Given the description of an element on the screen output the (x, y) to click on. 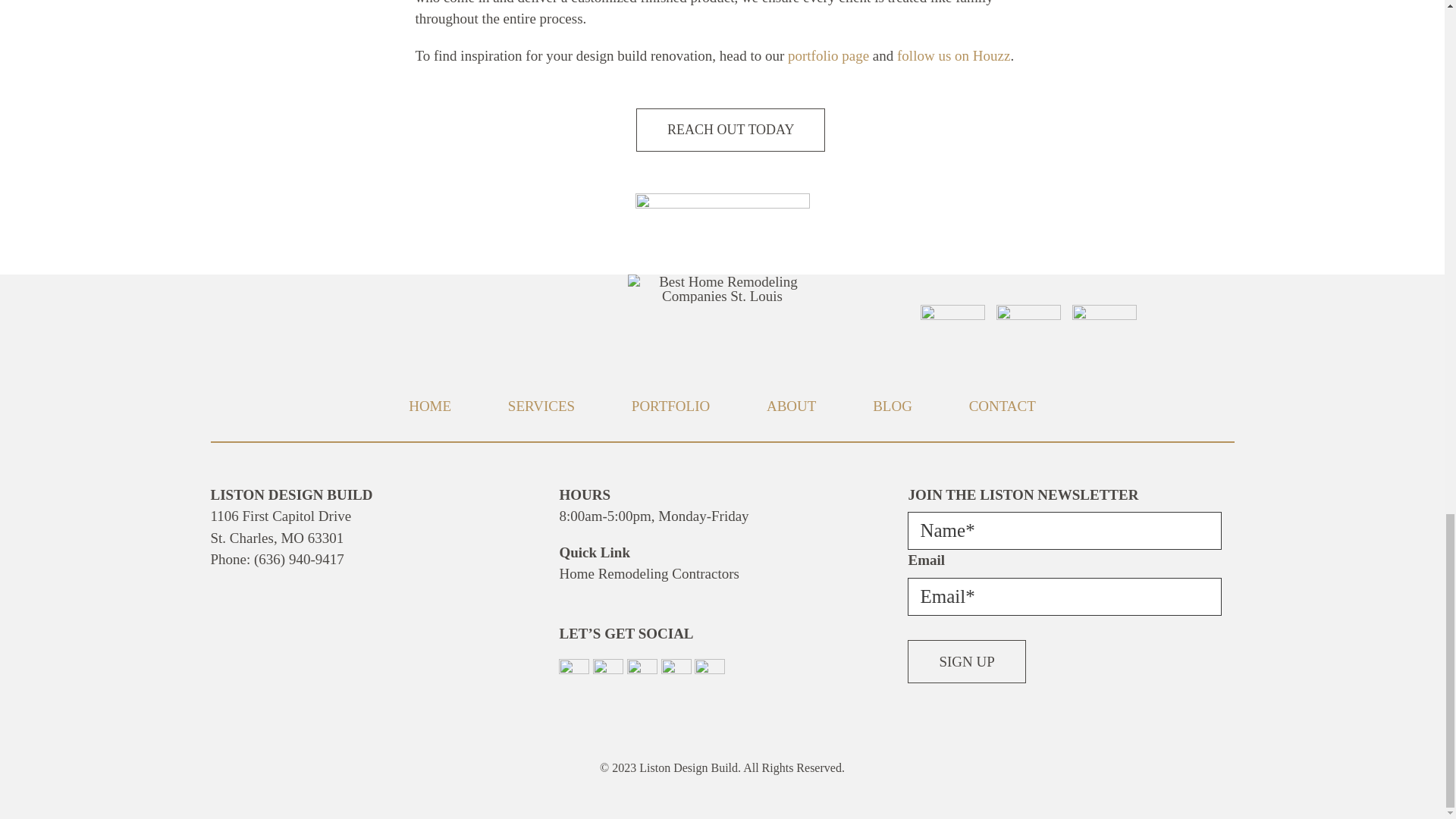
Liston-40th-RGB-Logo (721, 288)
liston-footer-tip (721, 233)
Sign Up (966, 661)
